Given the description of an element on the screen output the (x, y) to click on. 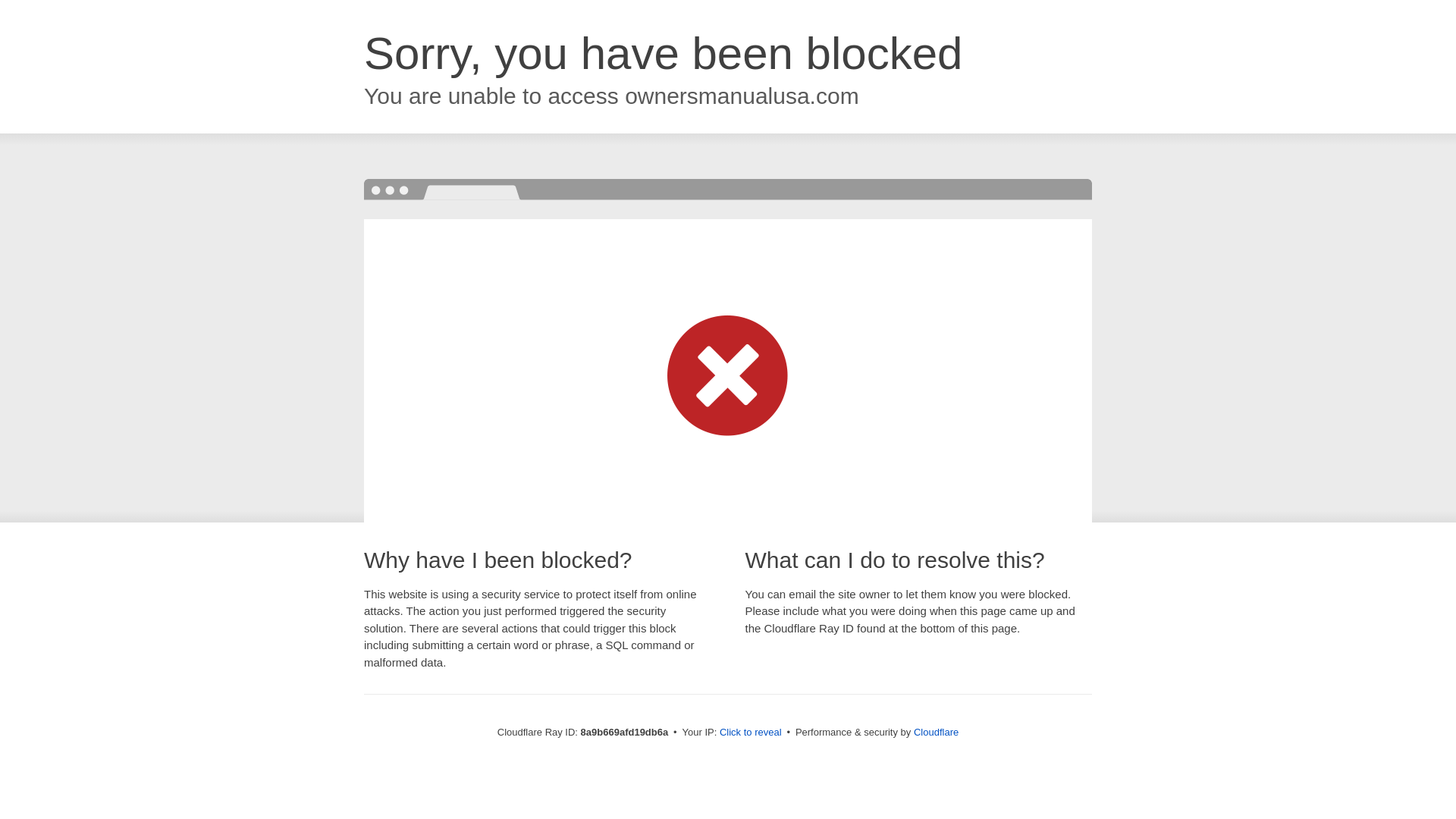
Cloudflare (936, 731)
Click to reveal (750, 732)
